Given the description of an element on the screen output the (x, y) to click on. 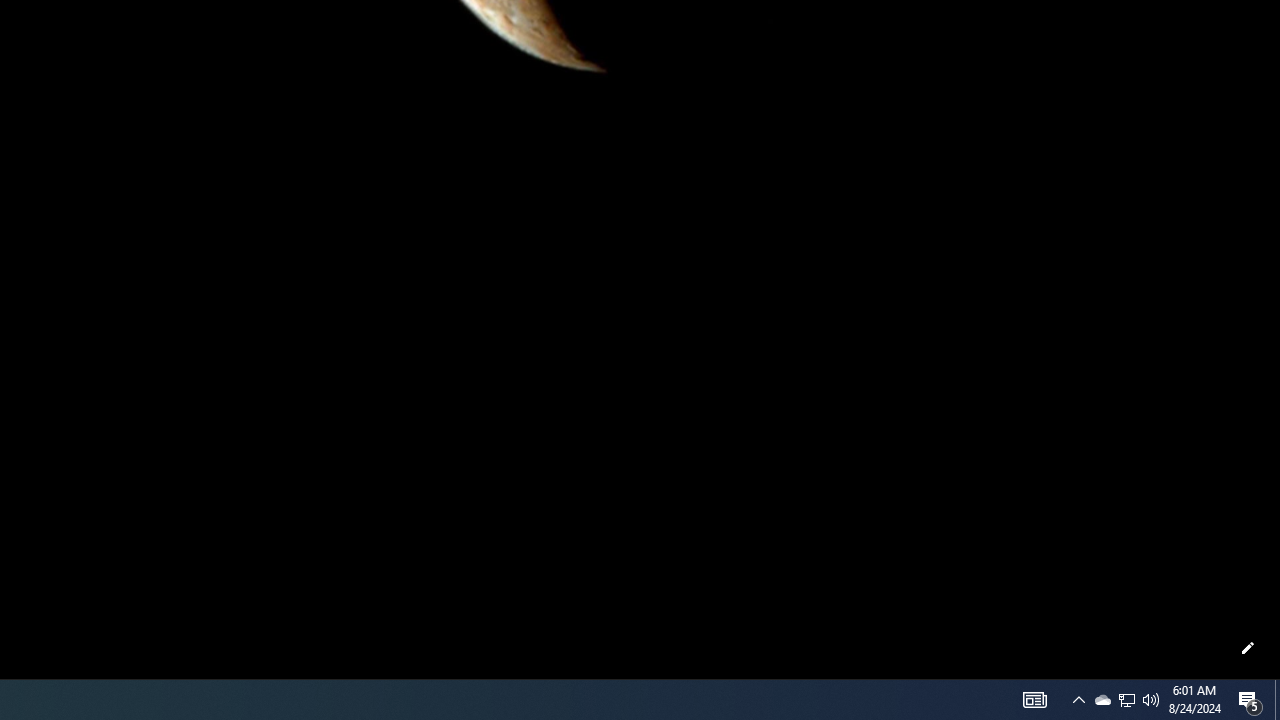
Customize this page (1247, 647)
